Given the description of an element on the screen output the (x, y) to click on. 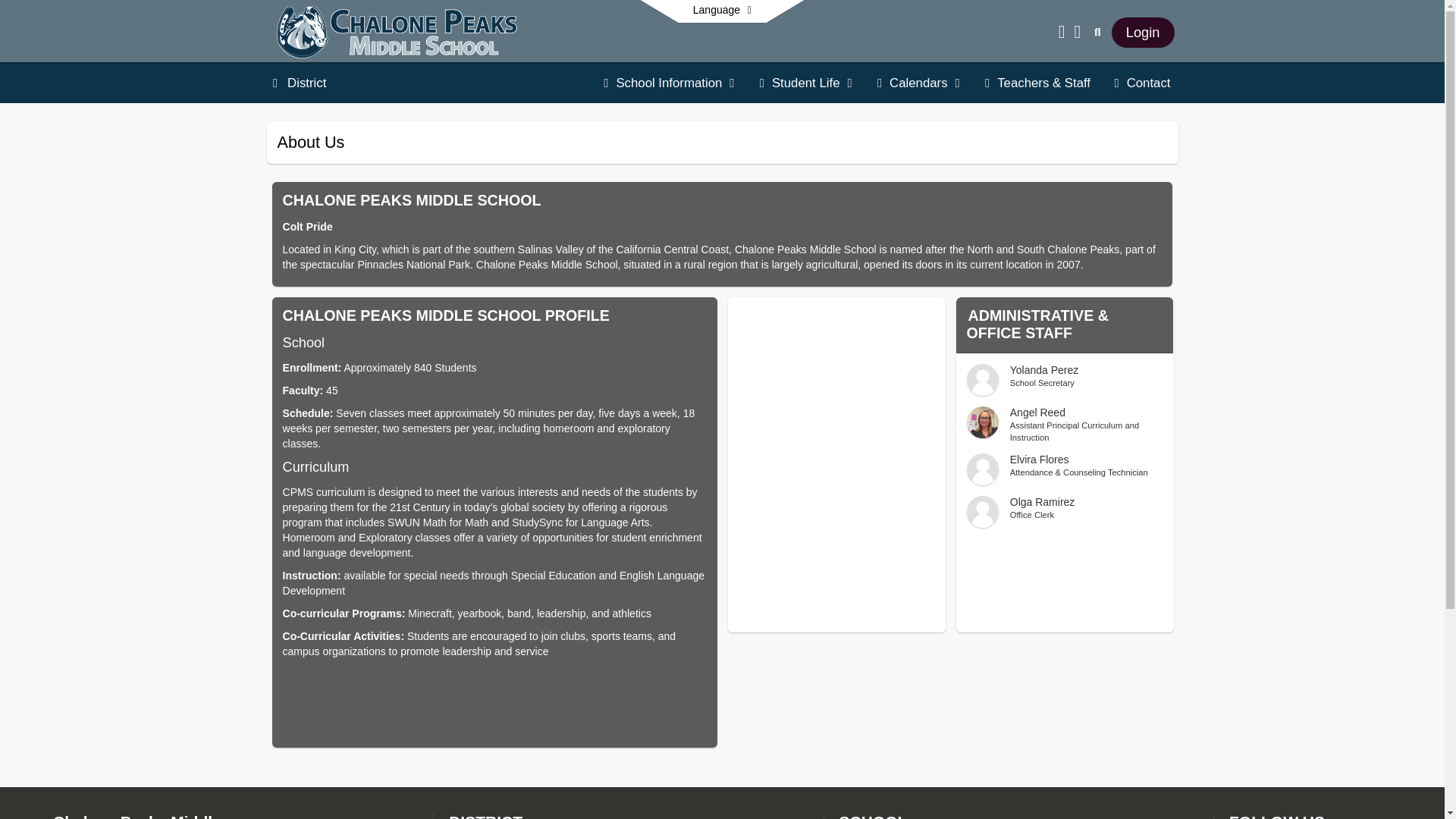
Student Life (1064, 379)
Angel Reed (806, 83)
Login (982, 422)
Subscribe to Organization (1064, 511)
DISTRICT (1143, 32)
SCHOOL (1158, 142)
Contact (485, 816)
School Information (1064, 424)
Language (873, 816)
Yolanda Perez (1141, 83)
Olga Ramirez (668, 83)
Olga Ramirez (721, 11)
